Given the description of an element on the screen output the (x, y) to click on. 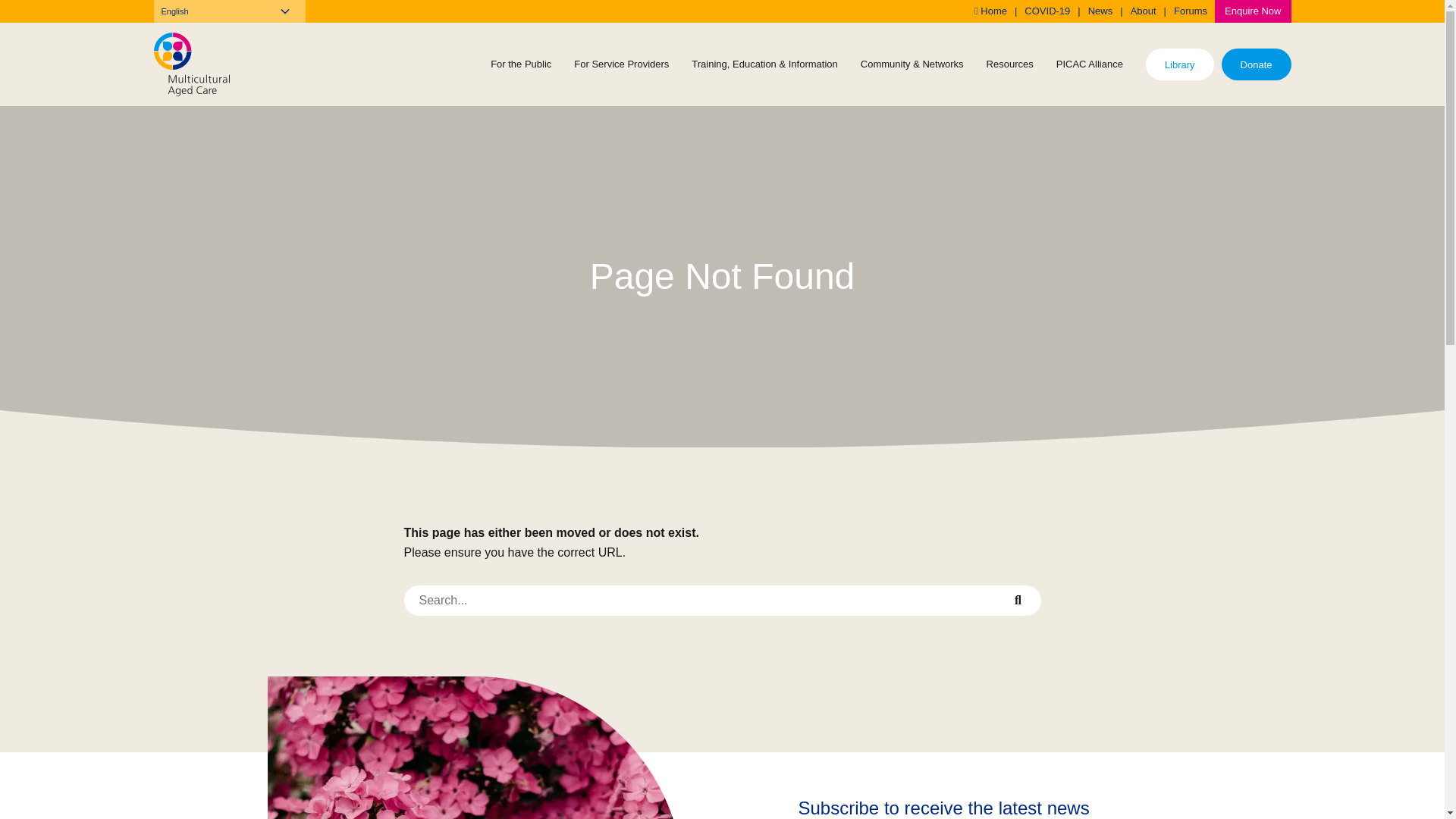
COVID-19 Element type: text (1047, 10)
Community & Networks Element type: text (911, 63)
Forums Element type: text (1190, 10)
For the Public Element type: text (520, 63)
News Element type: text (1100, 10)
Training, Education & Information Element type: text (764, 63)
For Service Providers Element type: text (621, 63)
Enquire Now Element type: text (1252, 11)
Home Element type: text (990, 10)
PICAC Alliance Element type: text (1089, 63)
About Element type: text (1143, 10)
Resources Element type: text (1009, 63)
Donate Element type: text (1256, 64)
Library Element type: text (1179, 64)
